Given the description of an element on the screen output the (x, y) to click on. 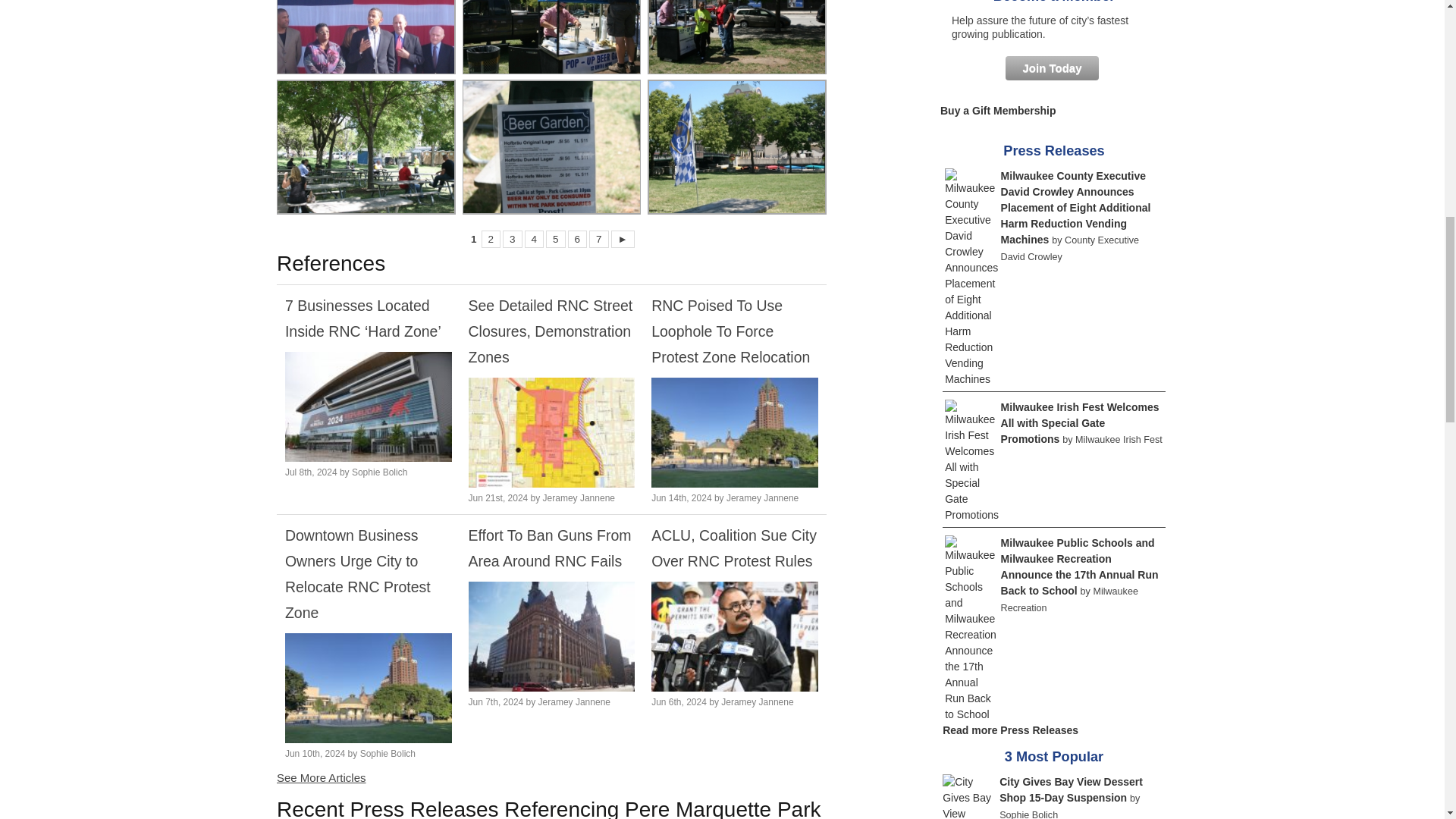
The start of the first Pere Marquette Beer Garden. (737, 147)
Posts by Jeramey Jannene (578, 498)
The start of the first Pere Marquette Beer Garden. (737, 36)
The start of the first Pere Marquette Beer Garden. (551, 147)
The start of the first Pere Marquette Beer Garden. (366, 147)
The start of the first Pere Marquette Beer Garden. (551, 36)
Posts by Sophie Bolich (379, 471)
